Given the description of an element on the screen output the (x, y) to click on. 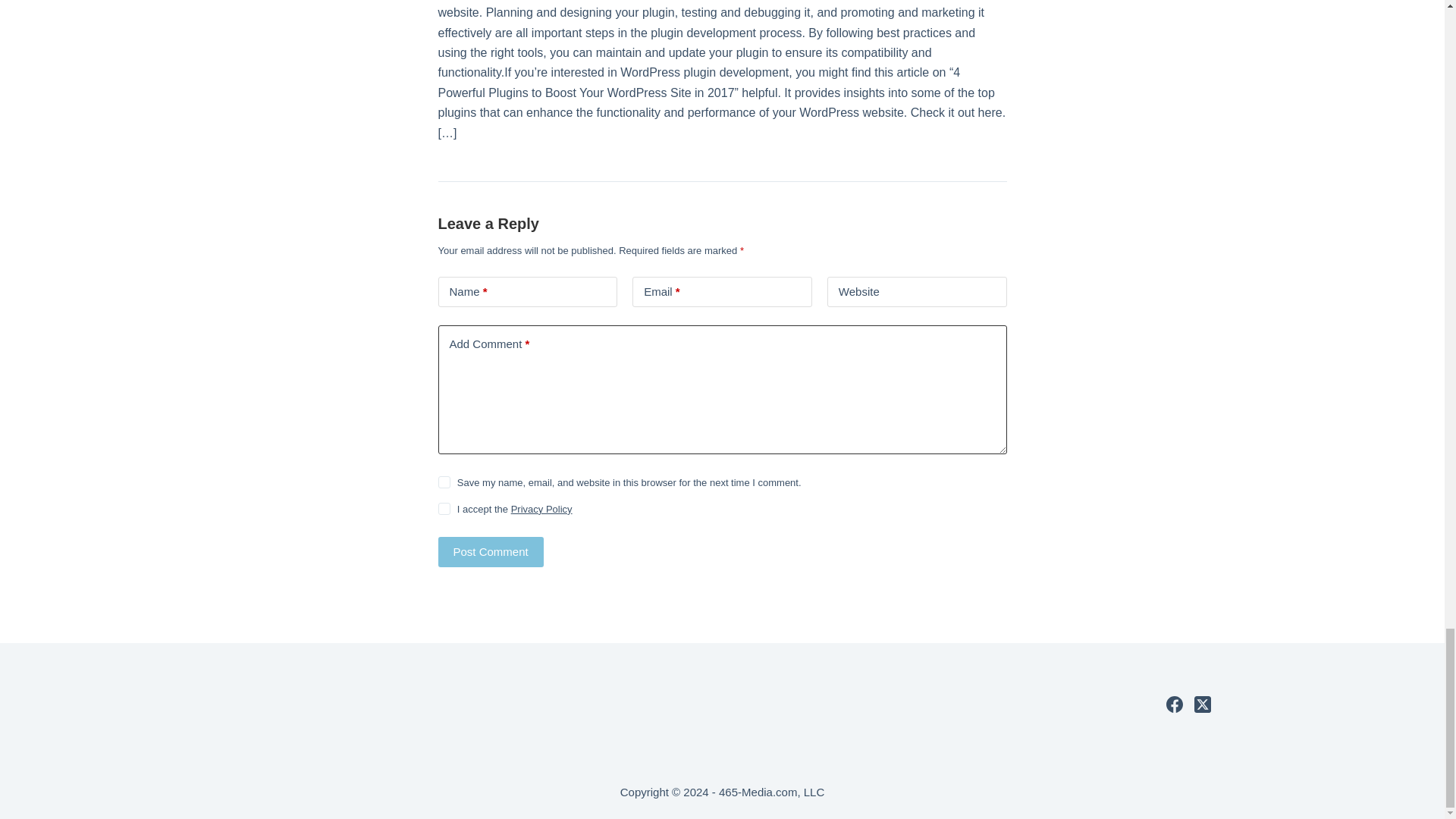
yes (443, 481)
on (443, 508)
